Given the description of an element on the screen output the (x, y) to click on. 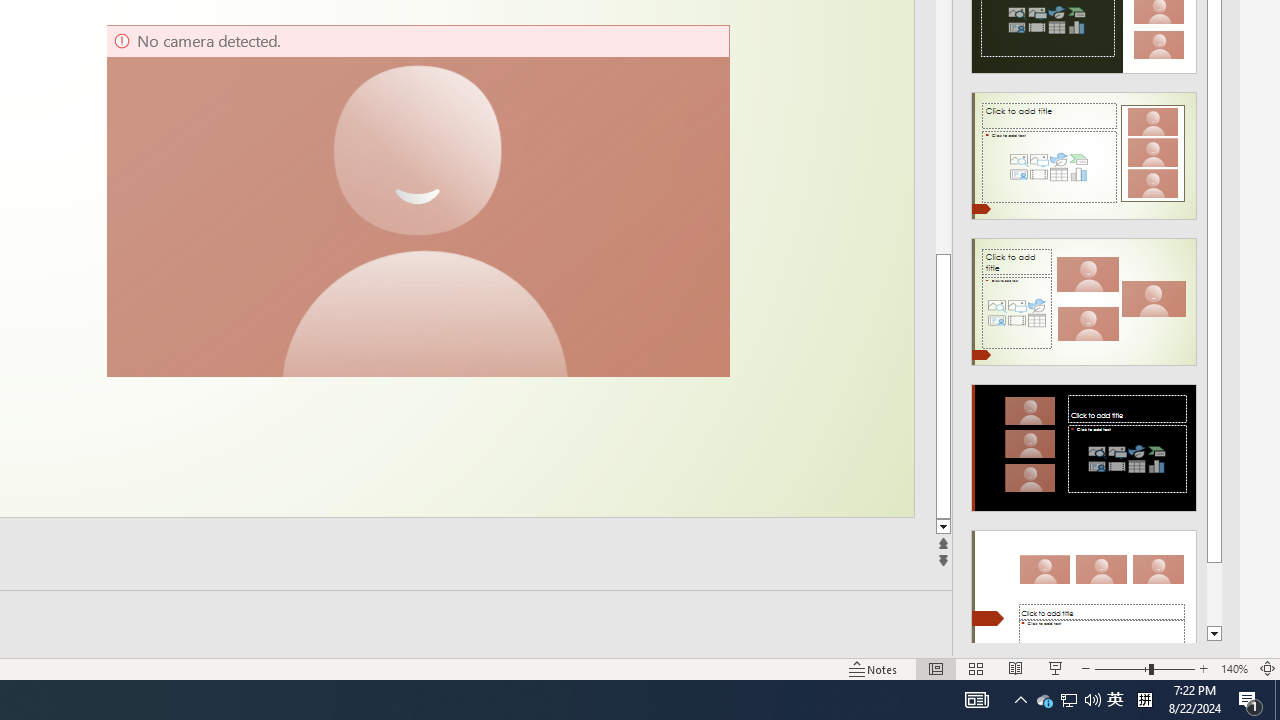
Design Idea (1083, 587)
Camera 4, No camera detected. (417, 200)
Zoom 140% (1234, 668)
